Given the description of an element on the screen output the (x, y) to click on. 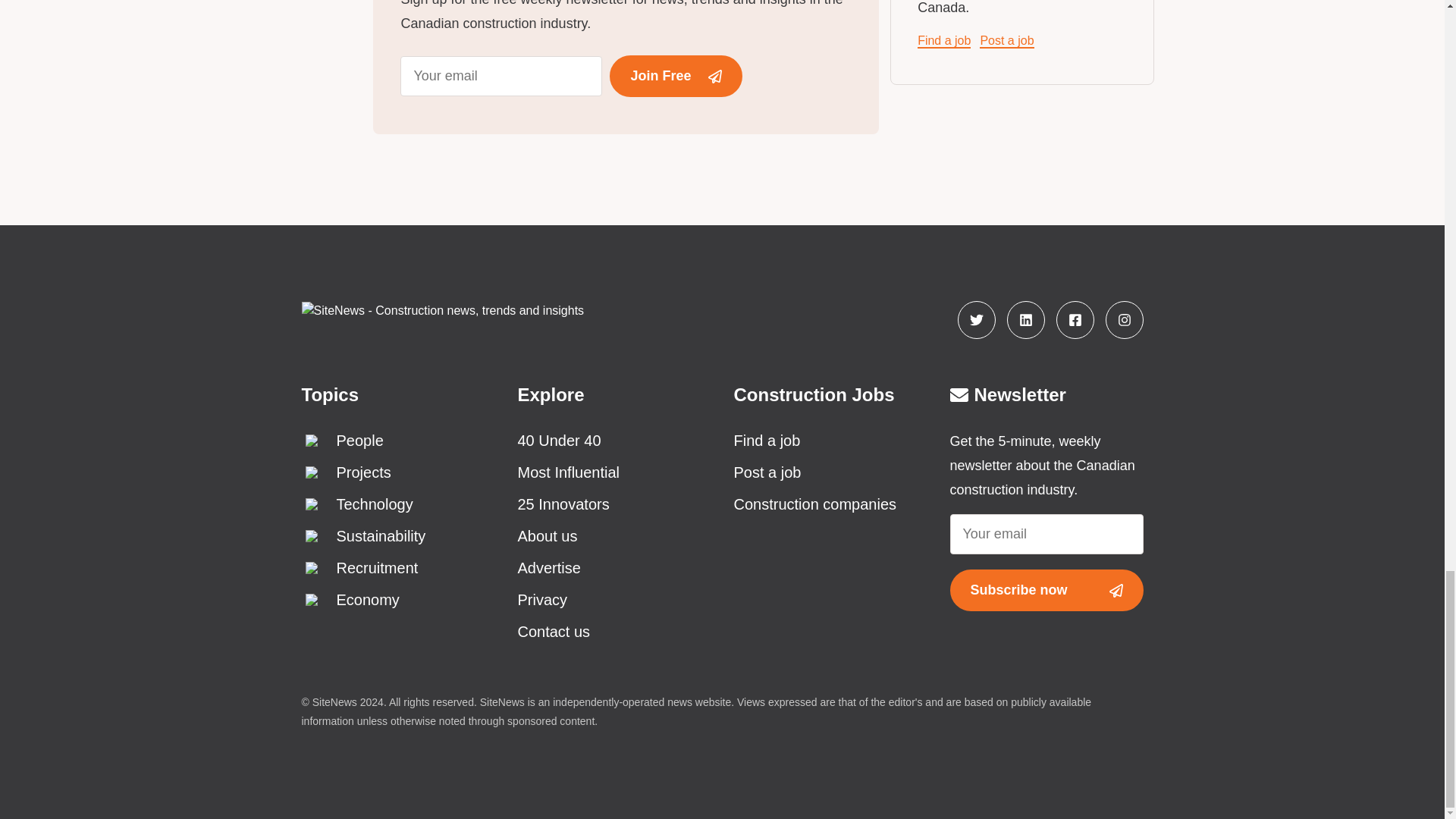
Join Free (675, 76)
Find a job (944, 41)
Post a job (1006, 41)
Projects (398, 472)
People (398, 440)
